Given the description of an element on the screen output the (x, y) to click on. 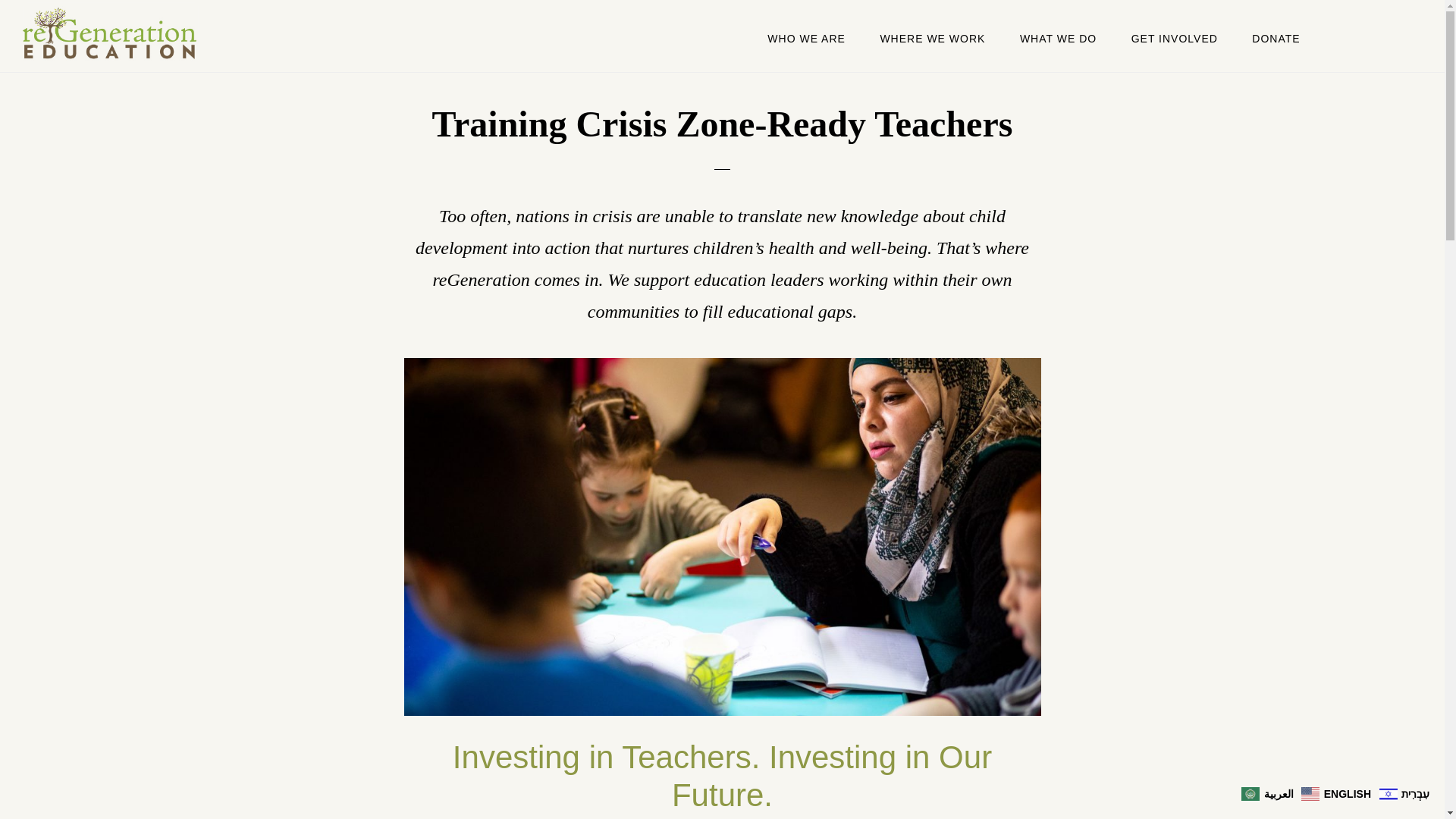
DONATE (1275, 38)
GET INVOLVED (1174, 38)
WHO WE ARE (806, 38)
WHERE WE WORK (932, 38)
WHAT WE DO (1058, 38)
REGENERATION EDUCATION (174, 32)
